Given the description of an element on the screen output the (x, y) to click on. 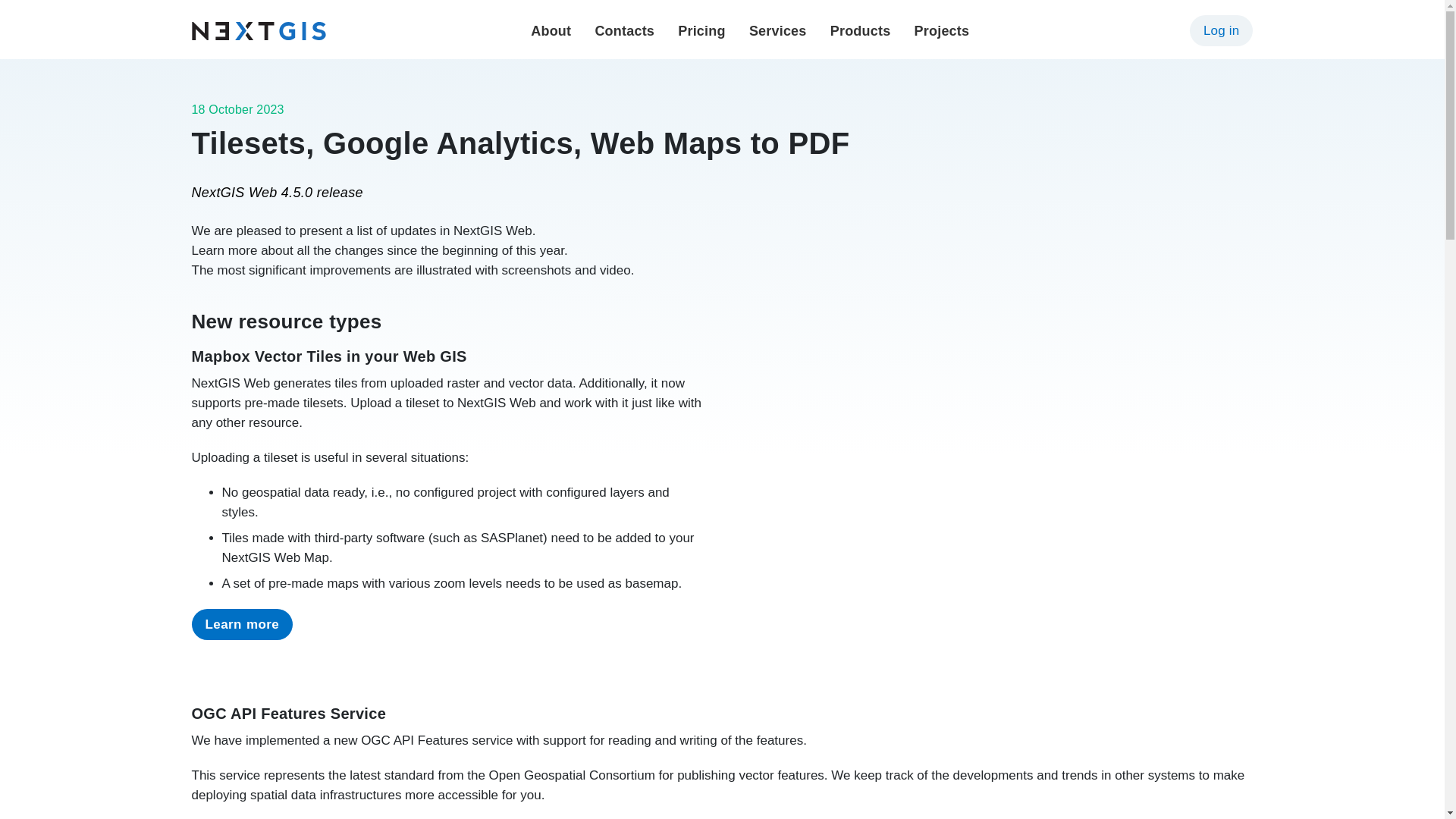
Learn more (241, 624)
Projects (941, 29)
Services (777, 29)
About (550, 29)
Log in (1221, 30)
Pricing (701, 29)
Contacts (623, 29)
NextGIS (257, 30)
Products (860, 29)
